Given the description of an element on the screen output the (x, y) to click on. 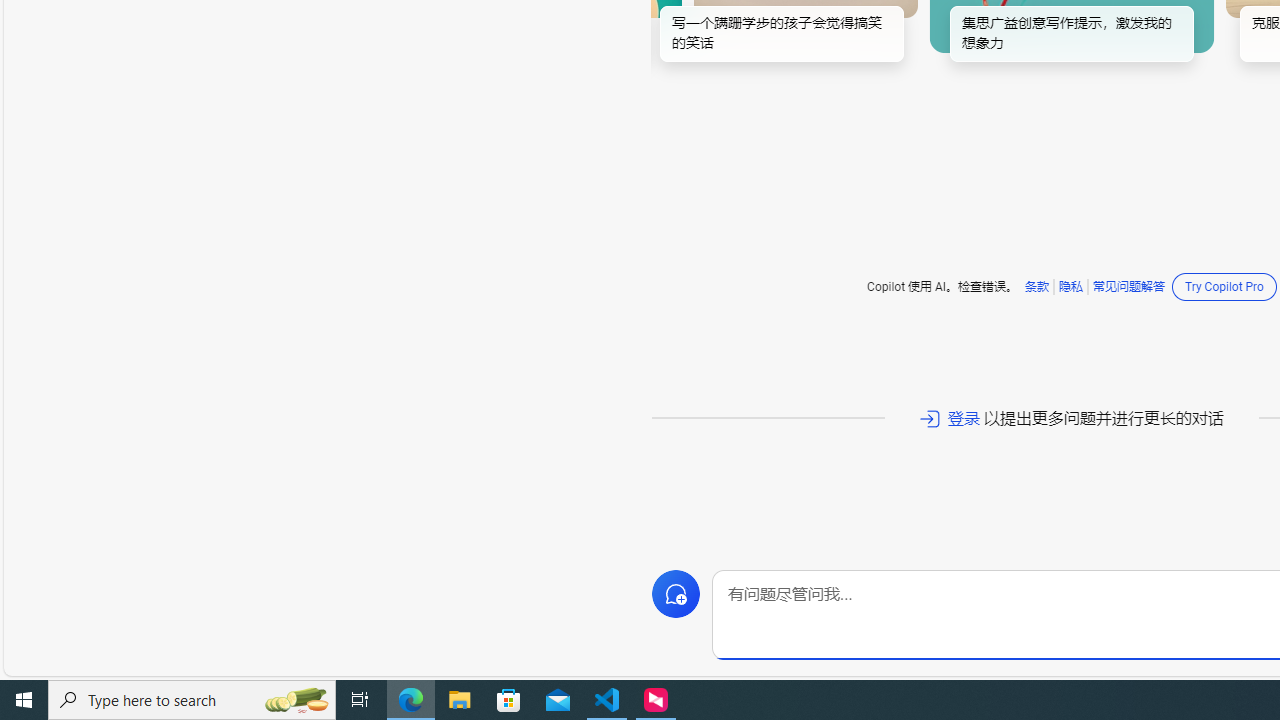
Try Copilot Pro (1224, 286)
